Given the description of an element on the screen output the (x, y) to click on. 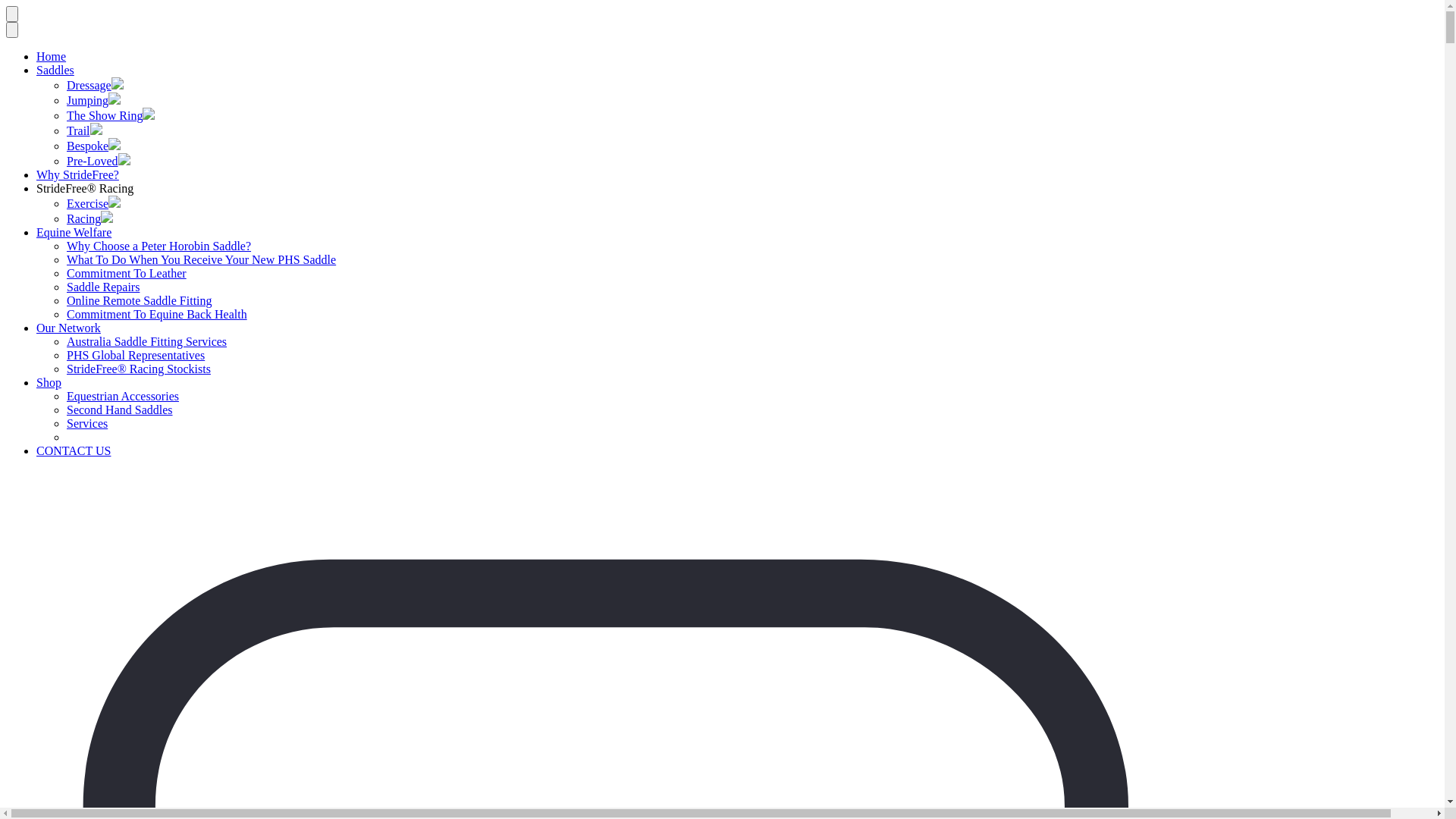
Bespoke Element type: text (87, 145)
Trail Element type: text (78, 130)
CONTACT US Element type: text (73, 450)
What To Do When You Receive Your New PHS Saddle Element type: text (200, 259)
Online Remote Saddle Fitting Element type: text (139, 300)
Saddle Repairs Element type: text (102, 286)
Why Choose a Peter Horobin Saddle? Element type: text (158, 245)
Services Element type: text (86, 423)
Racing Element type: text (83, 218)
The Show Ring Element type: text (104, 115)
Commitment To Equine Back Health Element type: text (156, 313)
Home Element type: text (50, 56)
Australia Saddle Fitting Services Element type: text (146, 341)
Exercise Element type: text (87, 203)
Jumping Element type: text (87, 100)
Saddles Element type: text (55, 69)
Why StrideFree? Element type: text (77, 174)
Shop Element type: text (48, 382)
Pre-Loved Element type: text (92, 160)
Second Hand Saddles Element type: text (119, 409)
Commitment To Leather Element type: text (126, 272)
Equine Welfare Element type: text (73, 231)
Equestrian Accessories Element type: text (122, 395)
Dressage Element type: text (88, 84)
PHS Global Representatives Element type: text (135, 354)
Our Network Element type: text (68, 327)
